Given the description of an element on the screen output the (x, y) to click on. 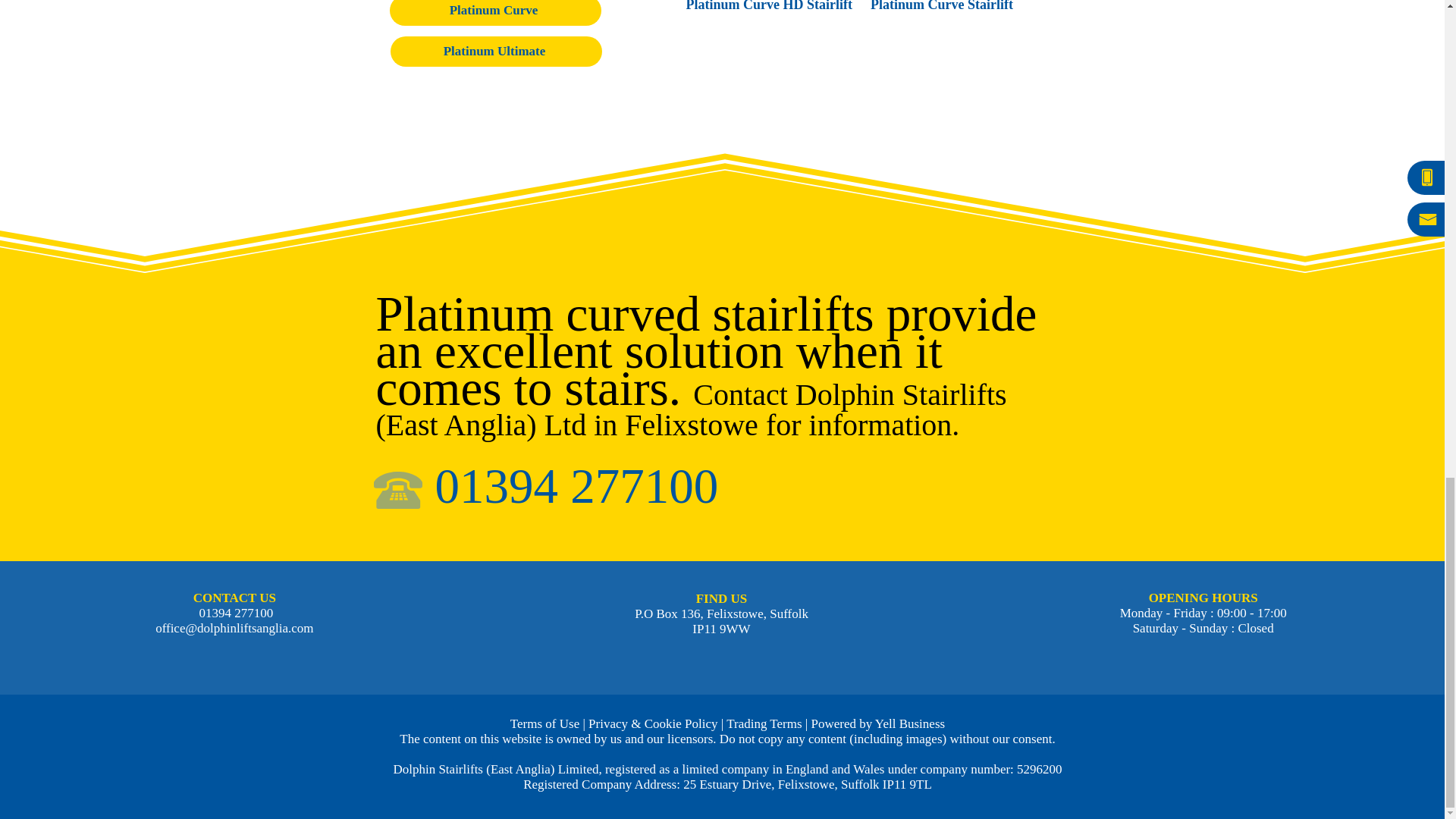
Platinum Curve Stairlift (955, 6)
Platinum Curve HD Stairlift (770, 6)
01394 277100 (577, 492)
Platinum Ultimate (495, 51)
 01394 277100 (234, 612)
Platinum Curve (495, 12)
